Given the description of an element on the screen output the (x, y) to click on. 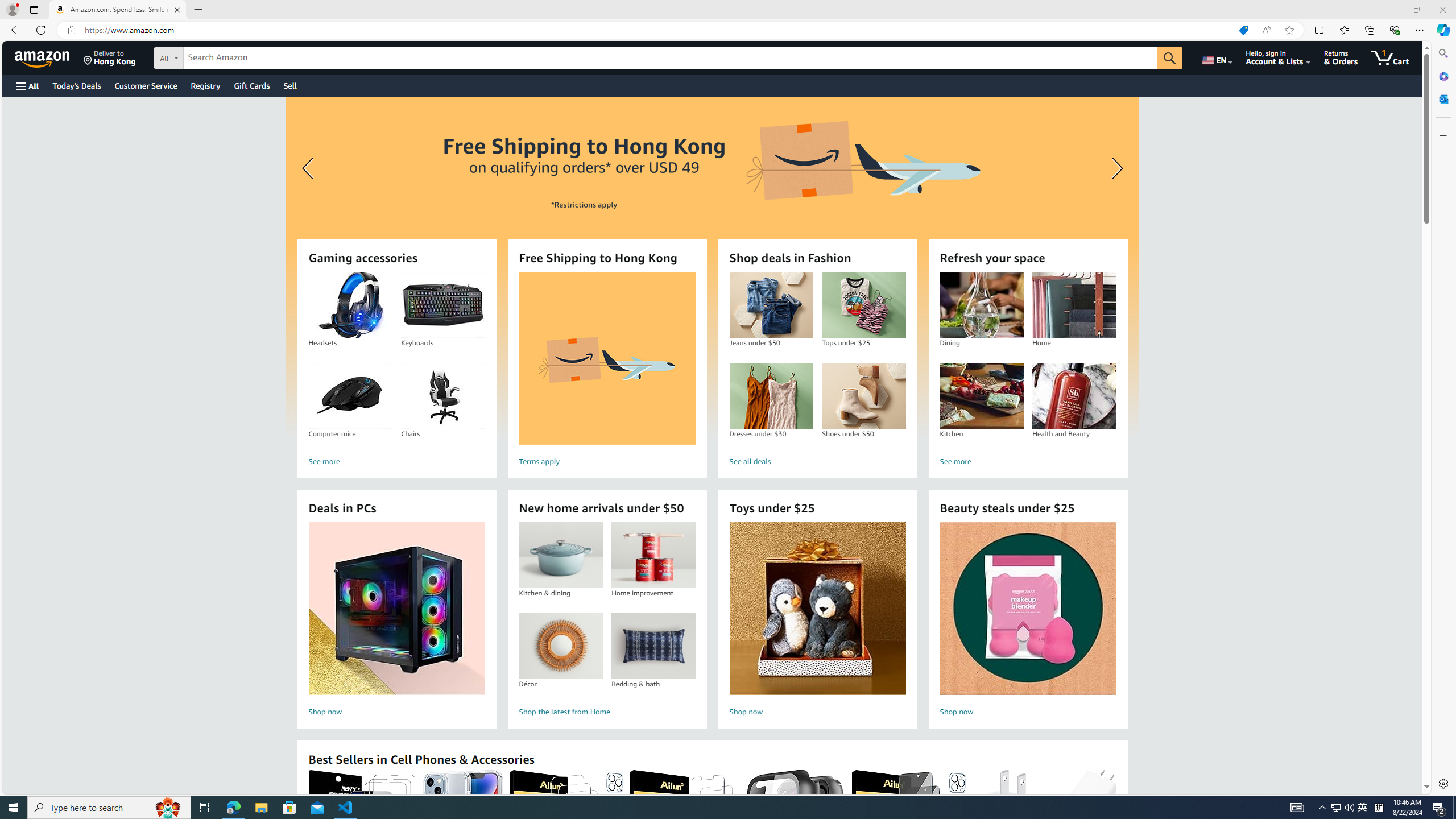
Free Shipping to Hong Kong Learn more (711, 267)
Terminal (183, 9)
Ln 112, Col 16 (1362, 807)
Home (1235, 789)
Editor actions (1074, 304)
Terminal 2 Python (1425, 29)
Type here to search (1422, 567)
No Problems (108, 807)
Amazon (37, 789)
Free Shipping to Hong Kong (43, 57)
Run (606, 357)
Chairs (153, 9)
Side bar (443, 395)
Read aloud this page (Ctrl+Shift+U) (1443, 418)
